Given the description of an element on the screen output the (x, y) to click on. 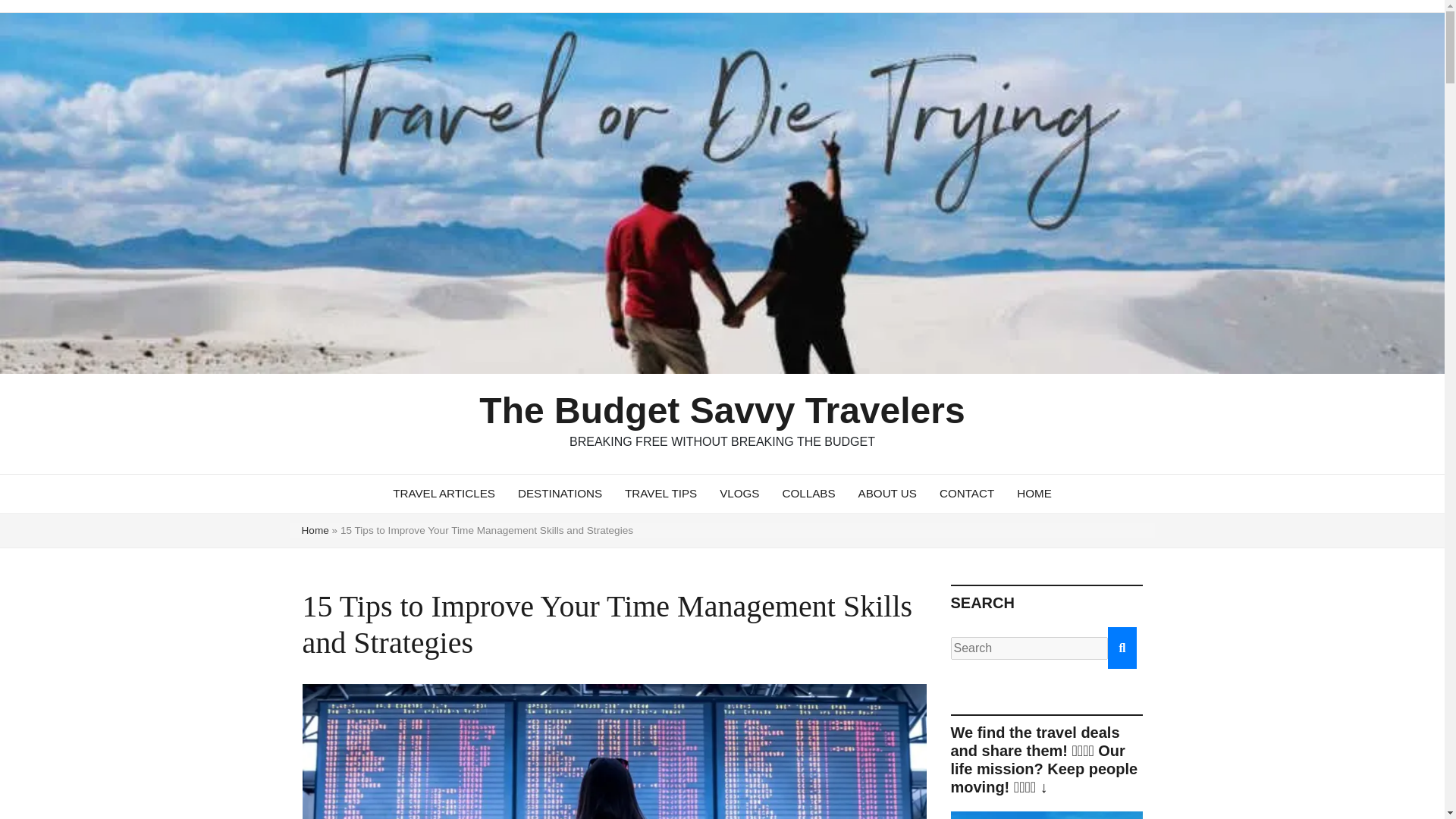
DESTINATIONS (559, 493)
TRAVEL ARTICLES (443, 493)
The Budget Savvy Travelers (721, 410)
